Given the description of an element on the screen output the (x, y) to click on. 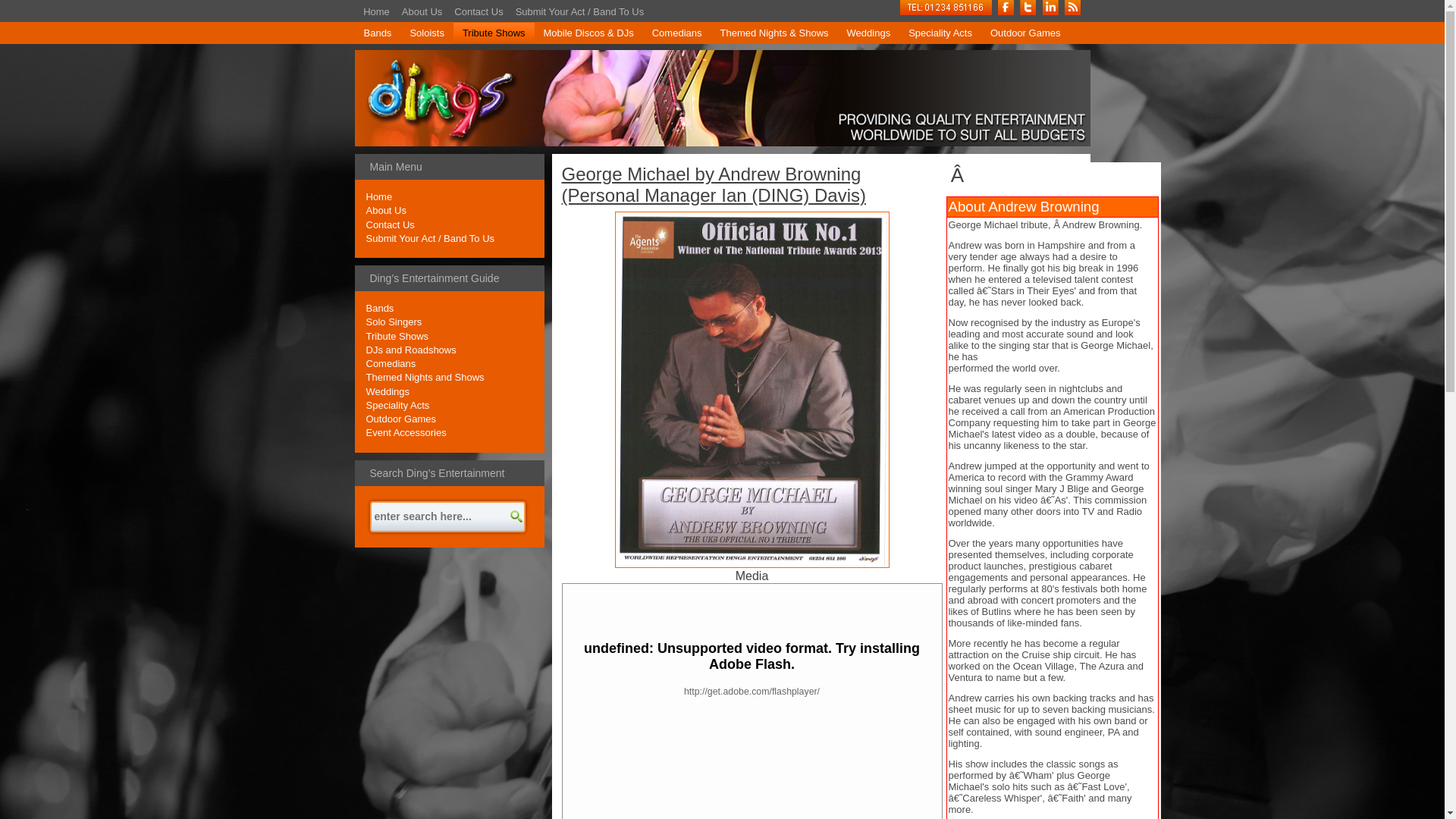
Soloists (426, 33)
About Us (421, 11)
Hello and Welcome to Dings Entertainment (376, 11)
Bands (378, 33)
Home (376, 11)
Contact Us (478, 11)
